Given the description of an element on the screen output the (x, y) to click on. 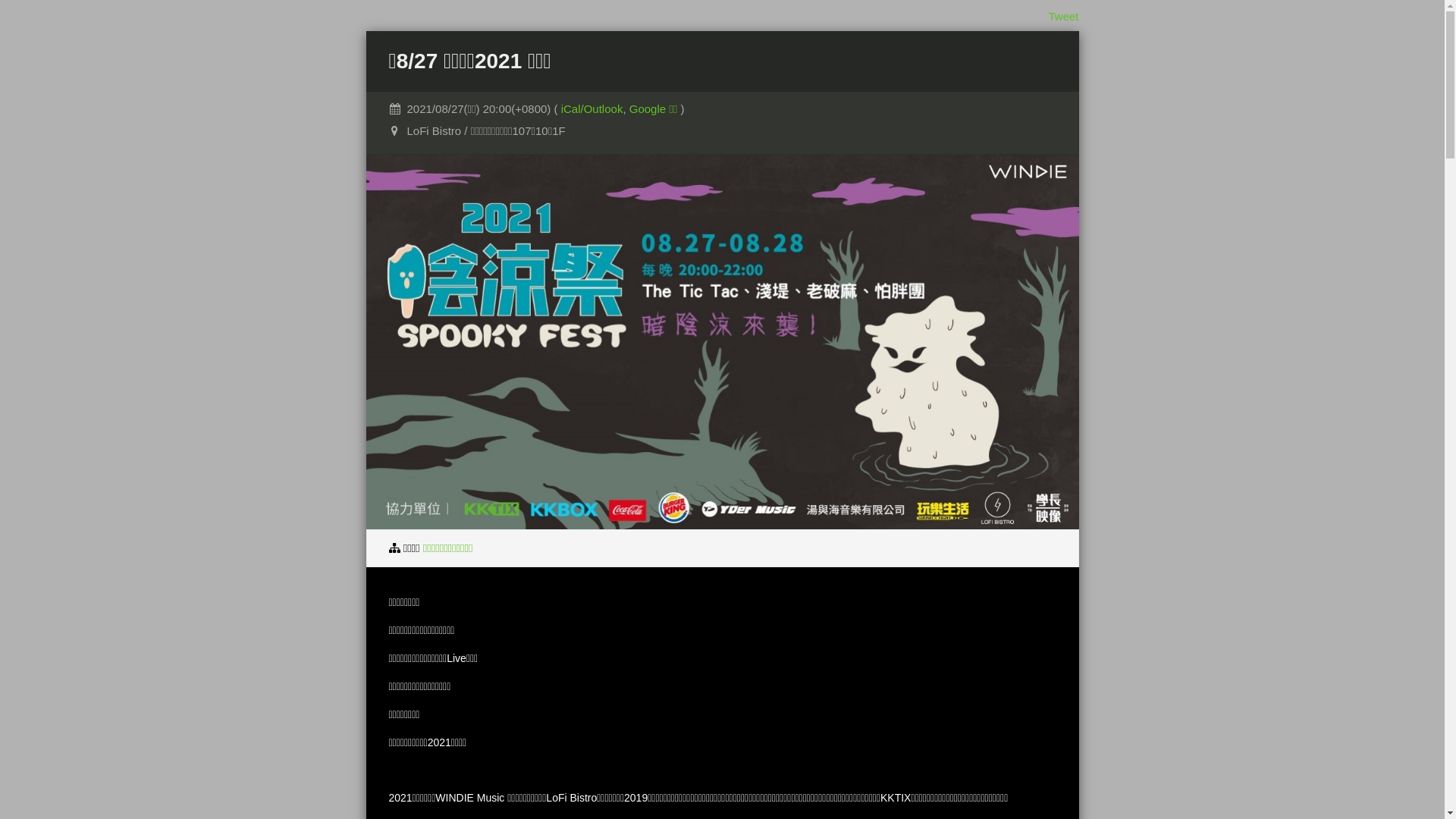
iCal/Outlook Element type: text (592, 108)
Tweet Element type: text (1063, 15)
